Given the description of an element on the screen output the (x, y) to click on. 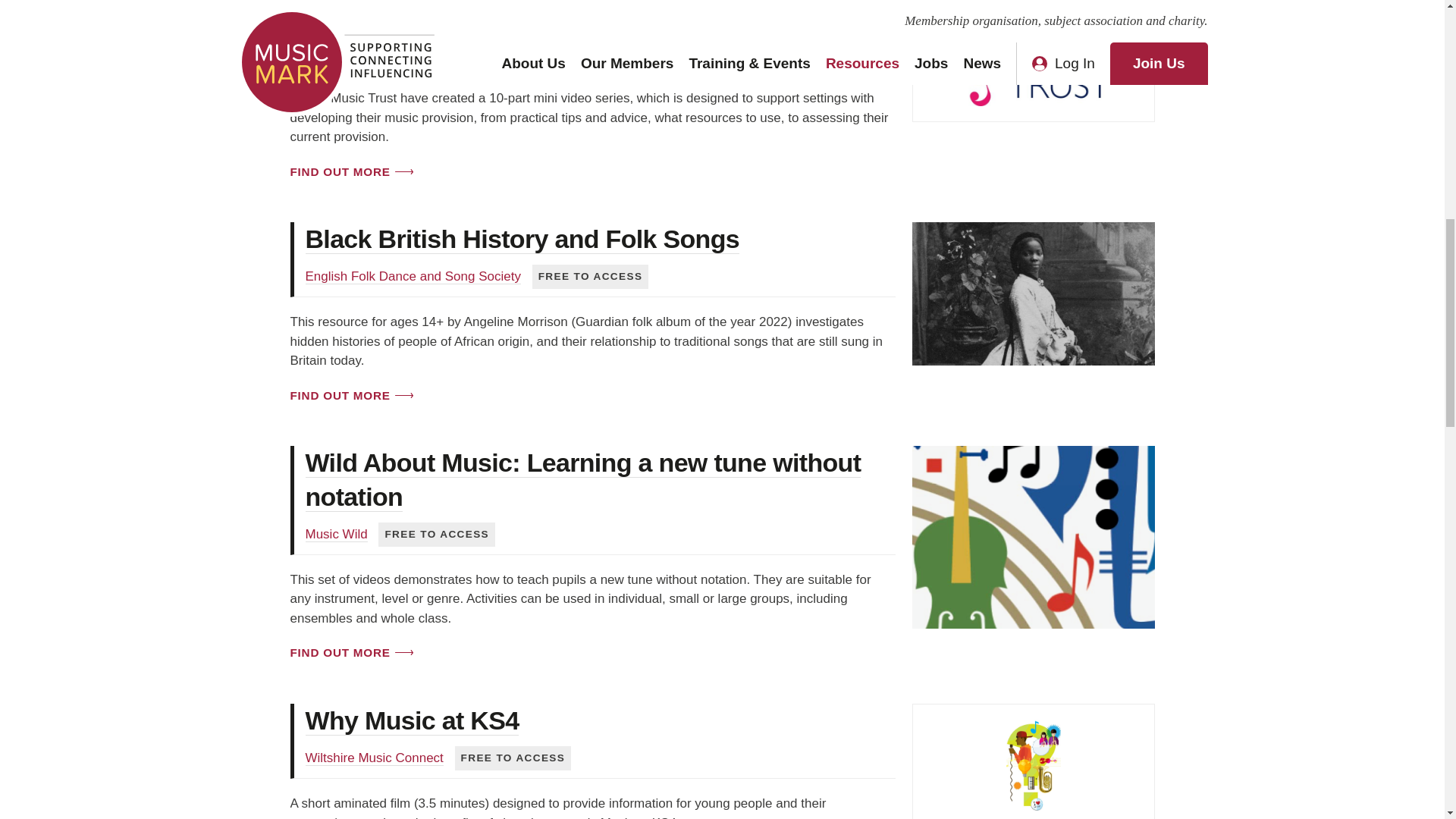
Music Wild (335, 534)
Music in the EYFS (411, 15)
Wiltshire Music Connect (373, 758)
Black British History and Folk Songs (521, 238)
Why Music at KS4 (411, 720)
Sutton Music Trust (358, 52)
FIND OUT MORE (350, 395)
Wild About Music: Learning a new tune without notation (582, 479)
FIND OUT MORE (350, 171)
English Folk Dance and Song Society (411, 276)
